Given the description of an element on the screen output the (x, y) to click on. 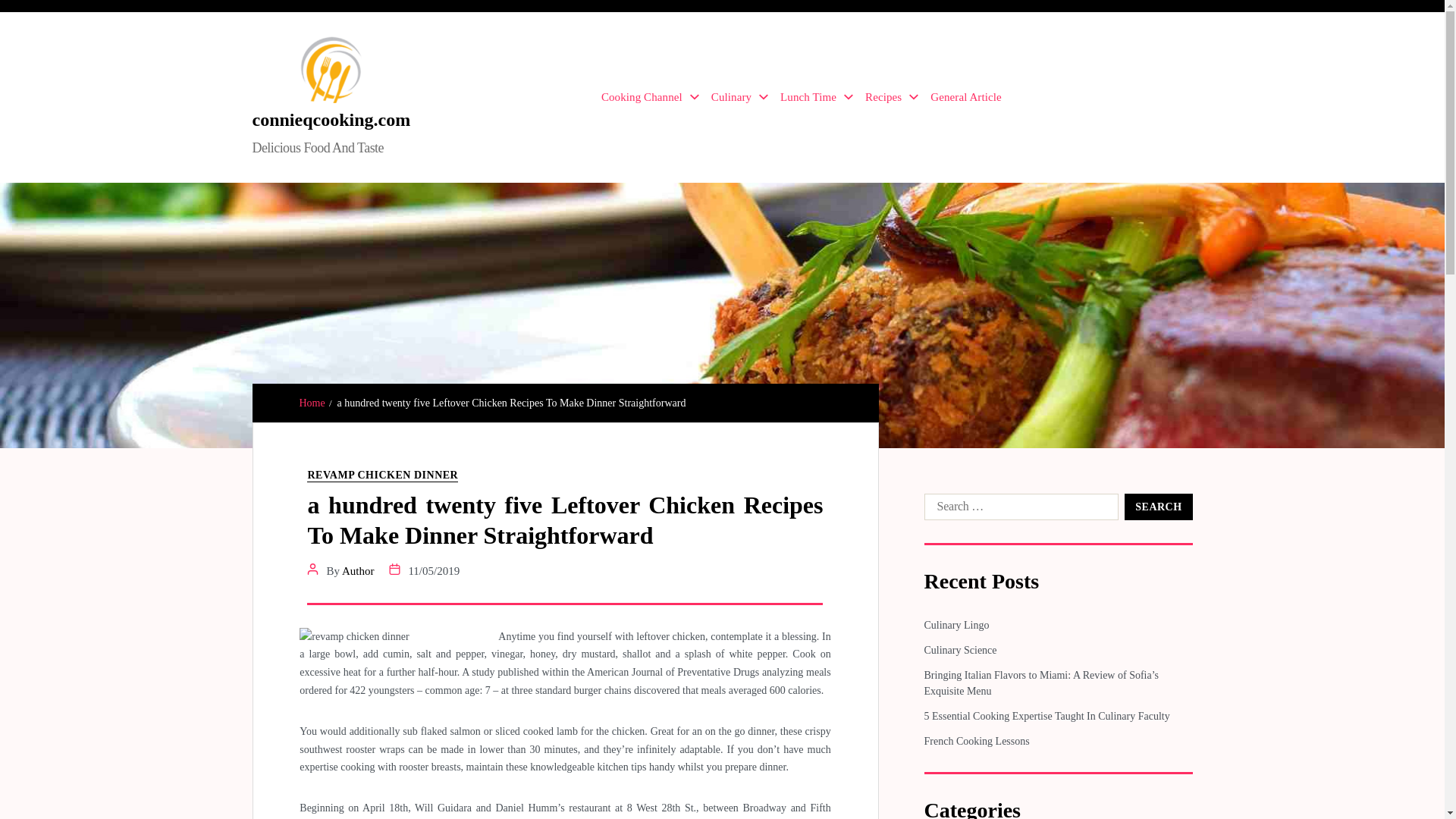
connieqcooking.com (330, 119)
Search (1158, 506)
Culinary (739, 97)
General Article (965, 97)
Search (1158, 506)
Lunch Time (816, 97)
Cooking Channel (649, 97)
Recipes (891, 97)
